Given the description of an element on the screen output the (x, y) to click on. 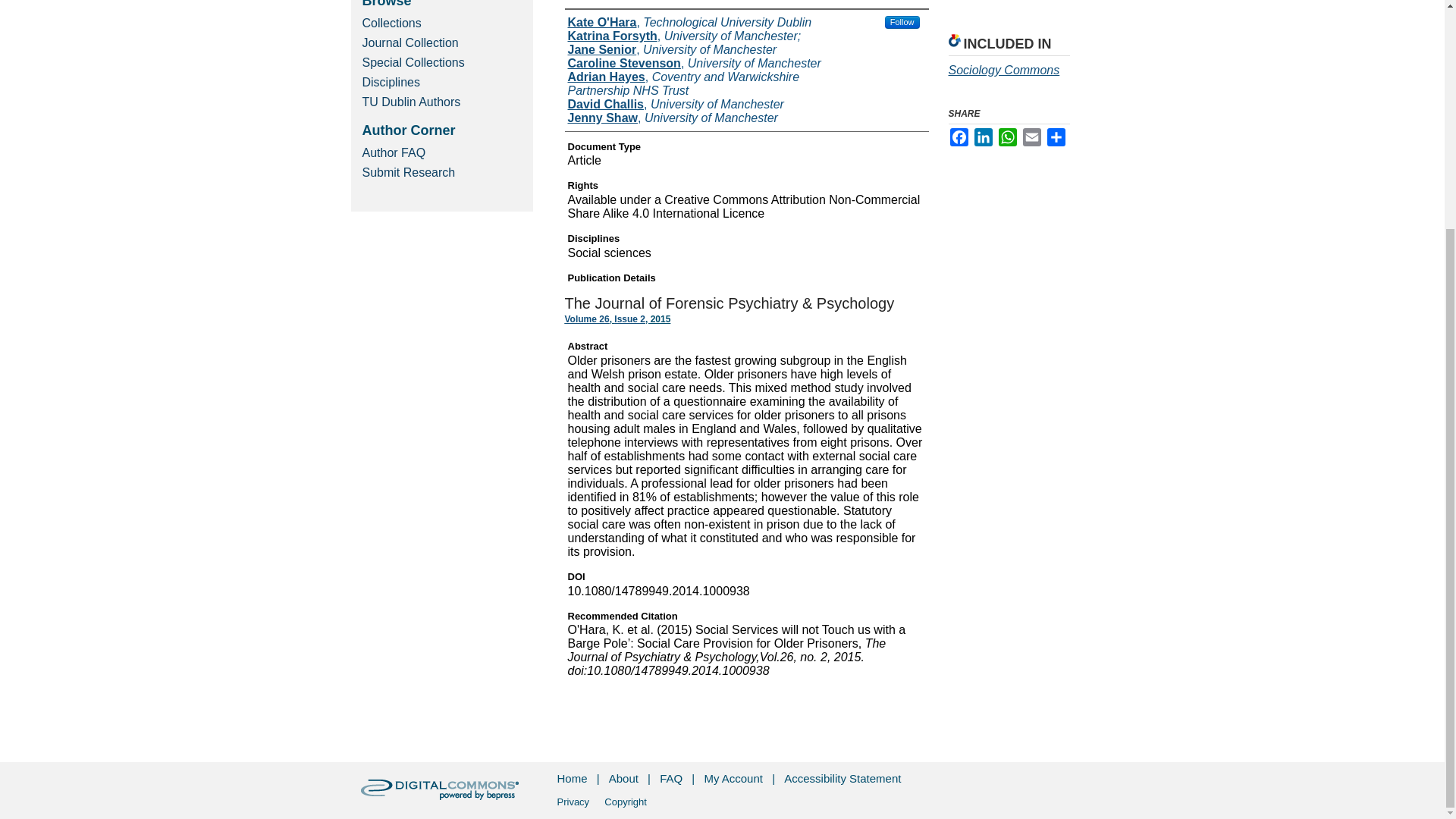
Volume 26 (586, 318)
Browse by Collections (442, 23)
Kate O'Hara, Technological University Dublin (688, 22)
Sociology Commons (1003, 69)
David Challis, University of Manchester (675, 104)
Sociology Commons (1003, 69)
Katrina Forsyth, University of Manchester; (683, 36)
Follow (902, 21)
Facebook (958, 136)
Follow Kate O'Hara (902, 21)
LinkedIn (982, 136)
Jenny Shaw, University of Manchester (672, 118)
Jane Senior, University of Manchester (671, 49)
Caroline Stevenson, University of Manchester (694, 63)
